Given the description of an element on the screen output the (x, y) to click on. 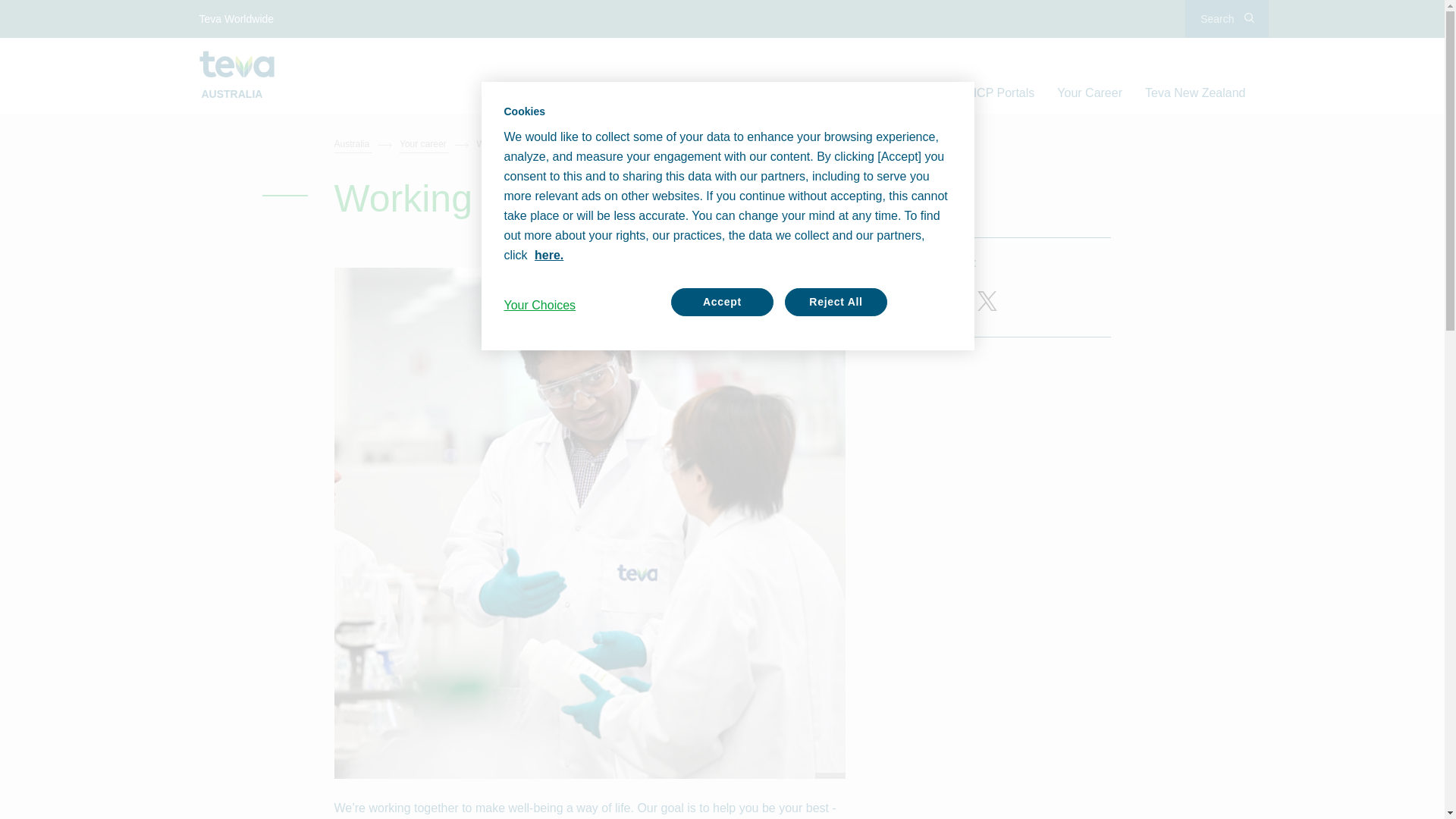
Your career (435, 143)
Teva Worldwide (236, 18)
Products (736, 92)
Patient Portals (906, 92)
About Teva (557, 92)
Teva New Zealand (1195, 92)
Teva (236, 63)
Share on Twitter (986, 300)
Search (1226, 18)
Share on Facebook (895, 300)
Teva Worldwide (236, 18)
Share on LinkedIn (940, 300)
Your Career (1089, 92)
Our Impact (812, 92)
HCP Portals (1001, 92)
